Given the description of an element on the screen output the (x, y) to click on. 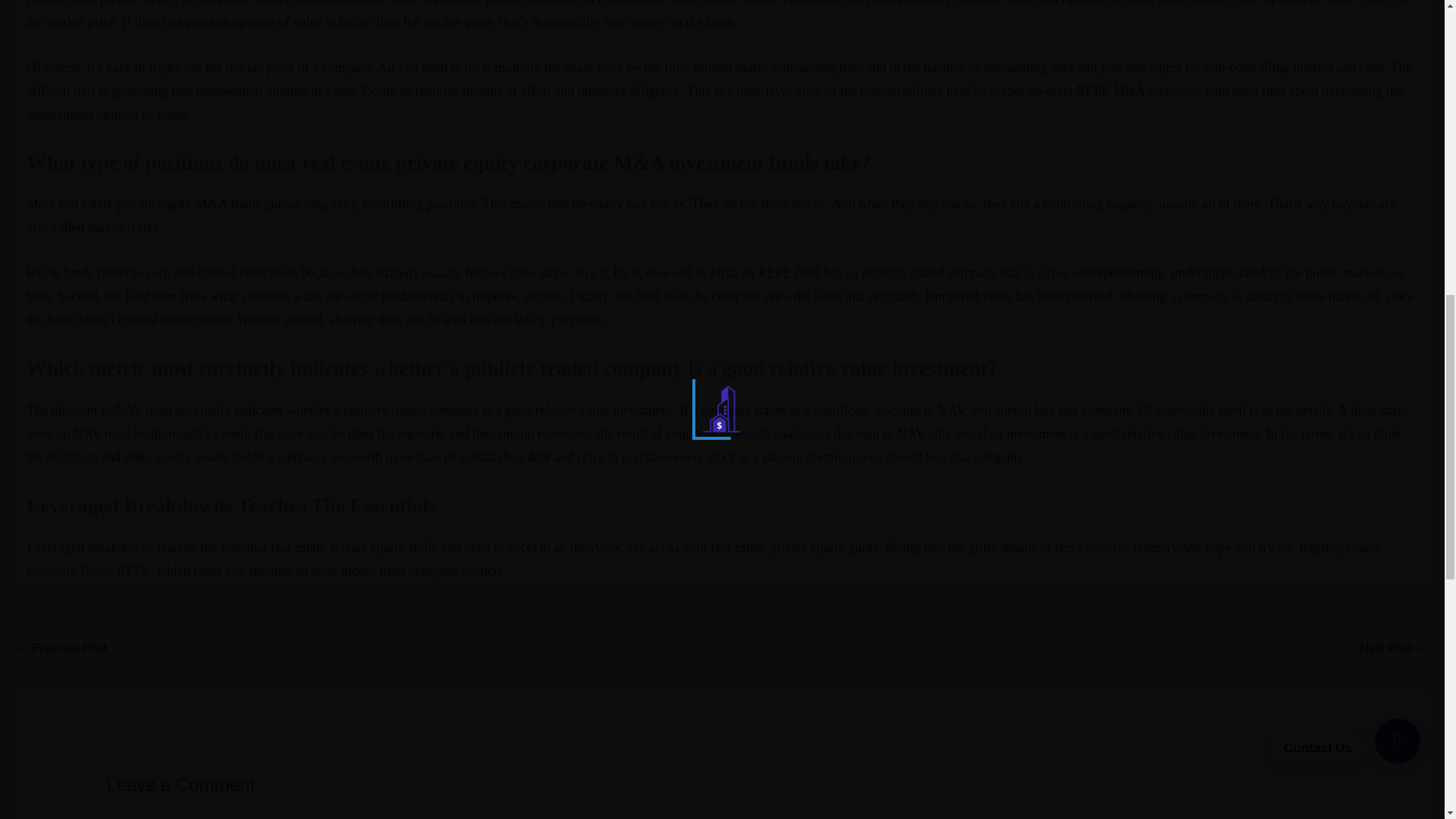
Real Estate Private Equity Interview Prep: The Capital Stack (1393, 649)
